Given the description of an element on the screen output the (x, y) to click on. 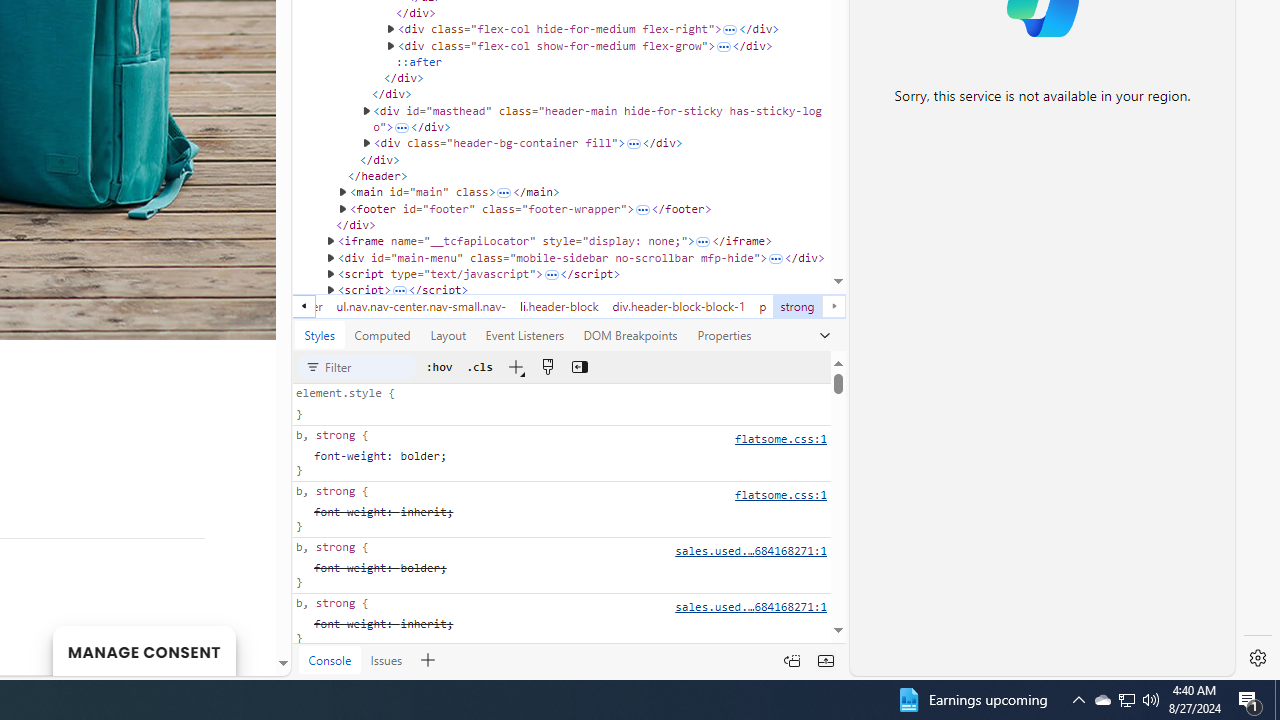
flatsome.css:1 (779, 494)
More tabs (824, 335)
Dock Quick View to the right (792, 660)
Styles (319, 335)
Expand Quick View (825, 660)
Properties (724, 335)
p (762, 305)
Element Classes (478, 366)
li.header-block (559, 305)
